Given the description of an element on the screen output the (x, y) to click on. 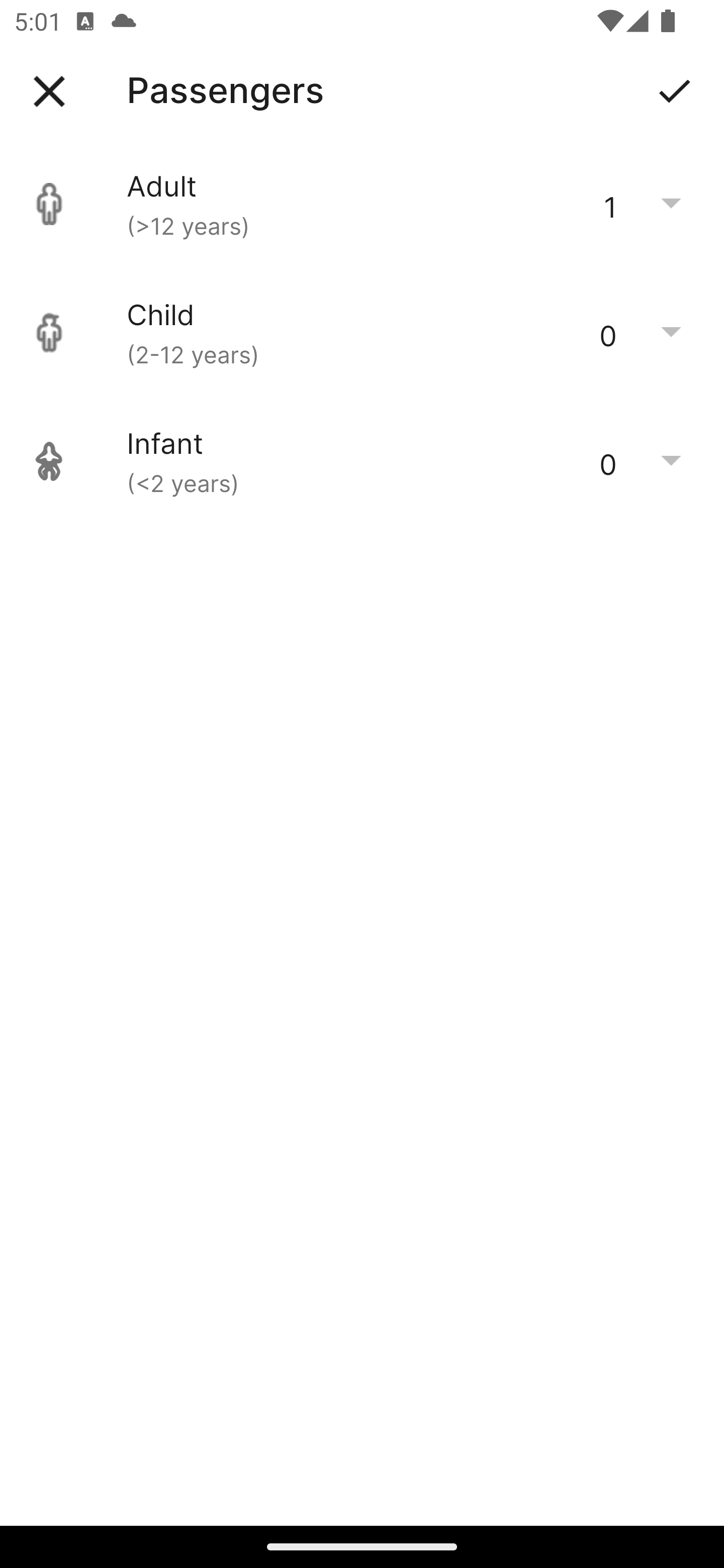
Adult (>12 years) 1 (362, 204)
Child (2-12 years) 0 (362, 332)
Infant (<2 years) 0 (362, 461)
